Given the description of an element on the screen output the (x, y) to click on. 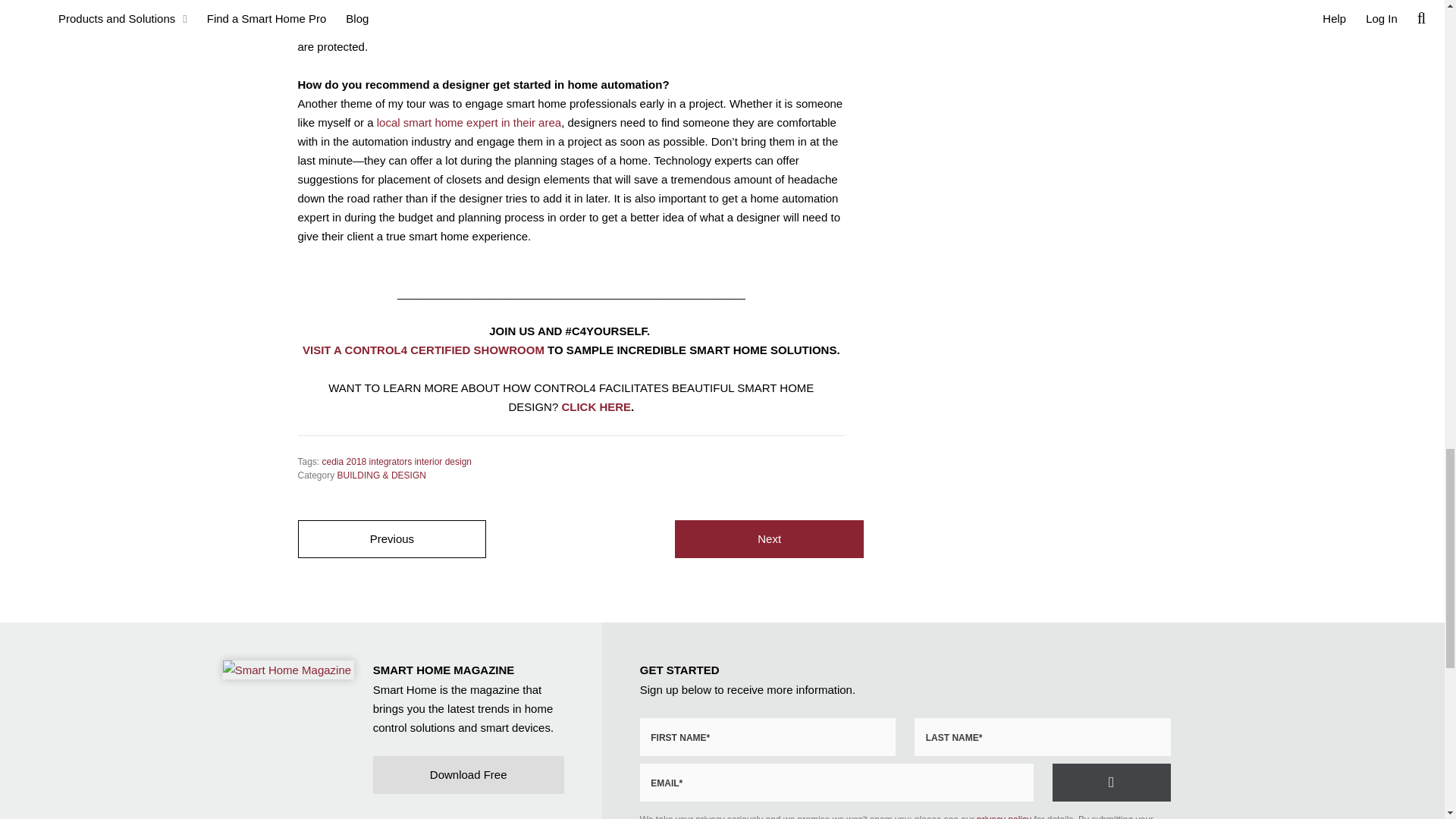
Request More Information (1111, 782)
Control4 Amazon Alexa Skill is Available in New Regions (391, 538)
